Given the description of an element on the screen output the (x, y) to click on. 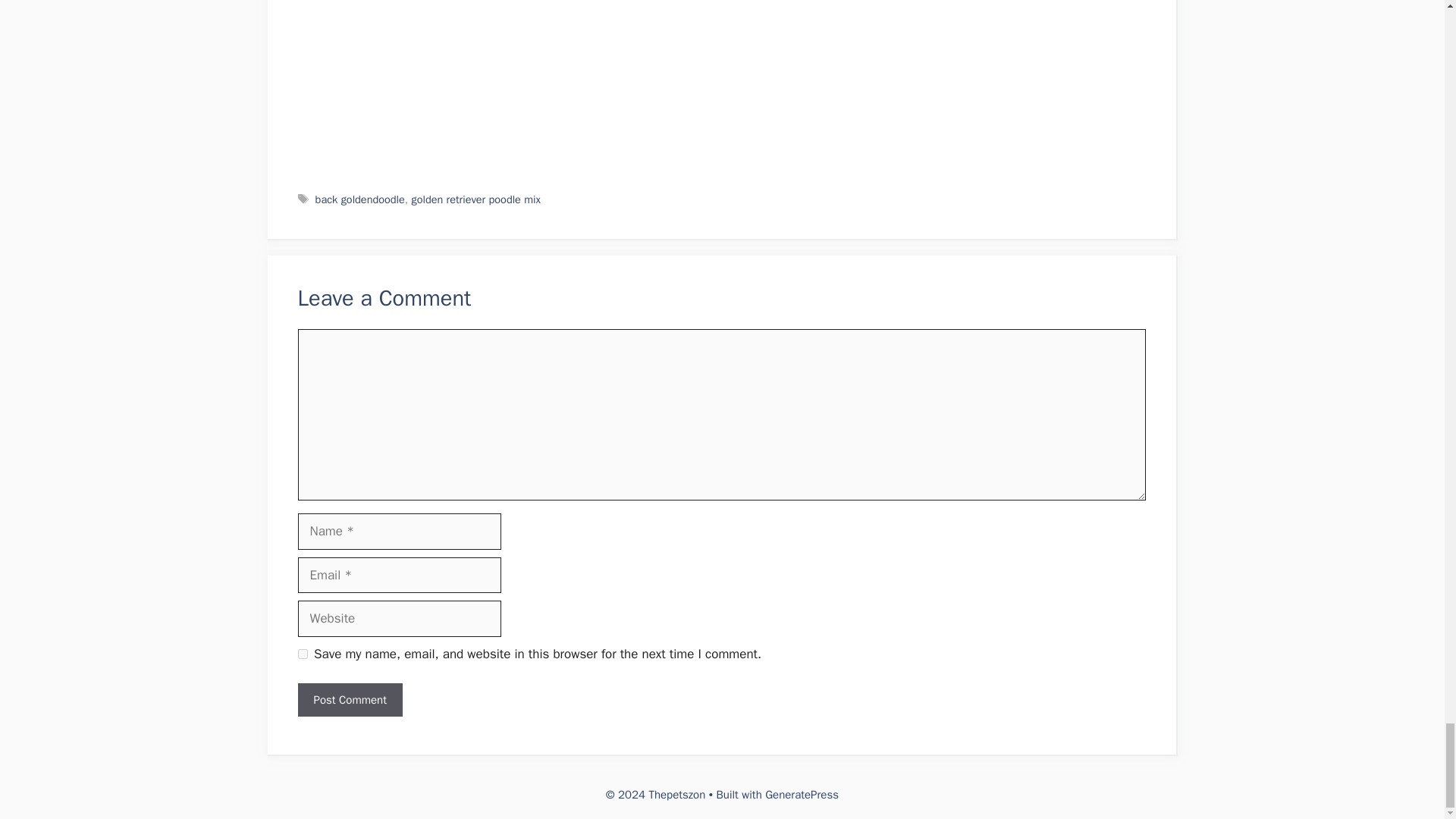
GeneratePress (801, 794)
golden retriever poodle mix (475, 199)
yes (302, 654)
Post Comment (349, 700)
Post Comment (349, 700)
back goldendoodle (359, 199)
